Given the description of an element on the screen output the (x, y) to click on. 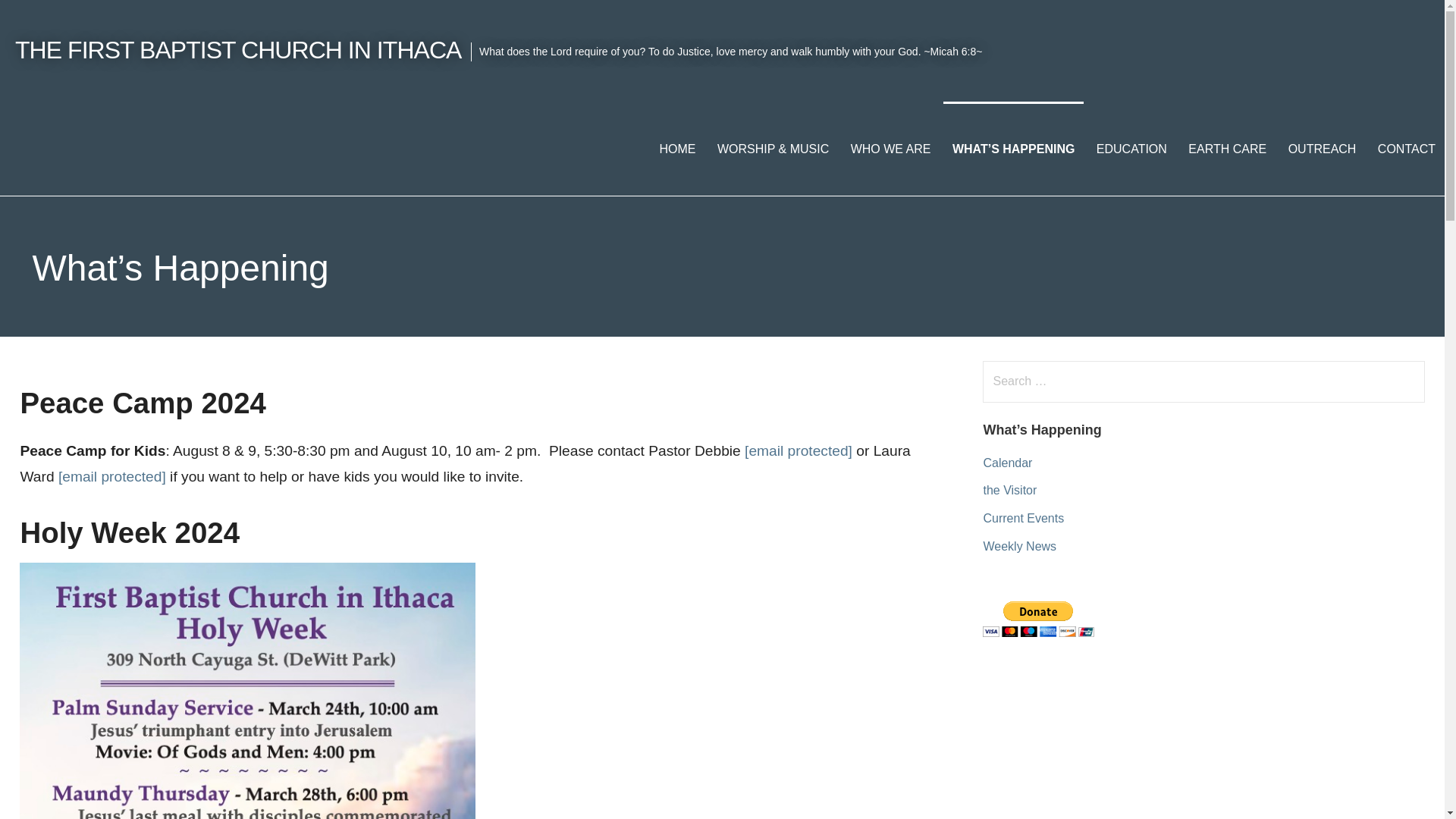
EDUCATION (1131, 148)
WHO WE ARE (890, 148)
EARTH CARE (1227, 148)
Calendar (1007, 462)
Calendar (1007, 462)
the Visitor (1009, 490)
Search (42, 18)
OUTREACH (1322, 148)
Current Events (1023, 517)
Weekly News (1019, 545)
